Given the description of an element on the screen output the (x, y) to click on. 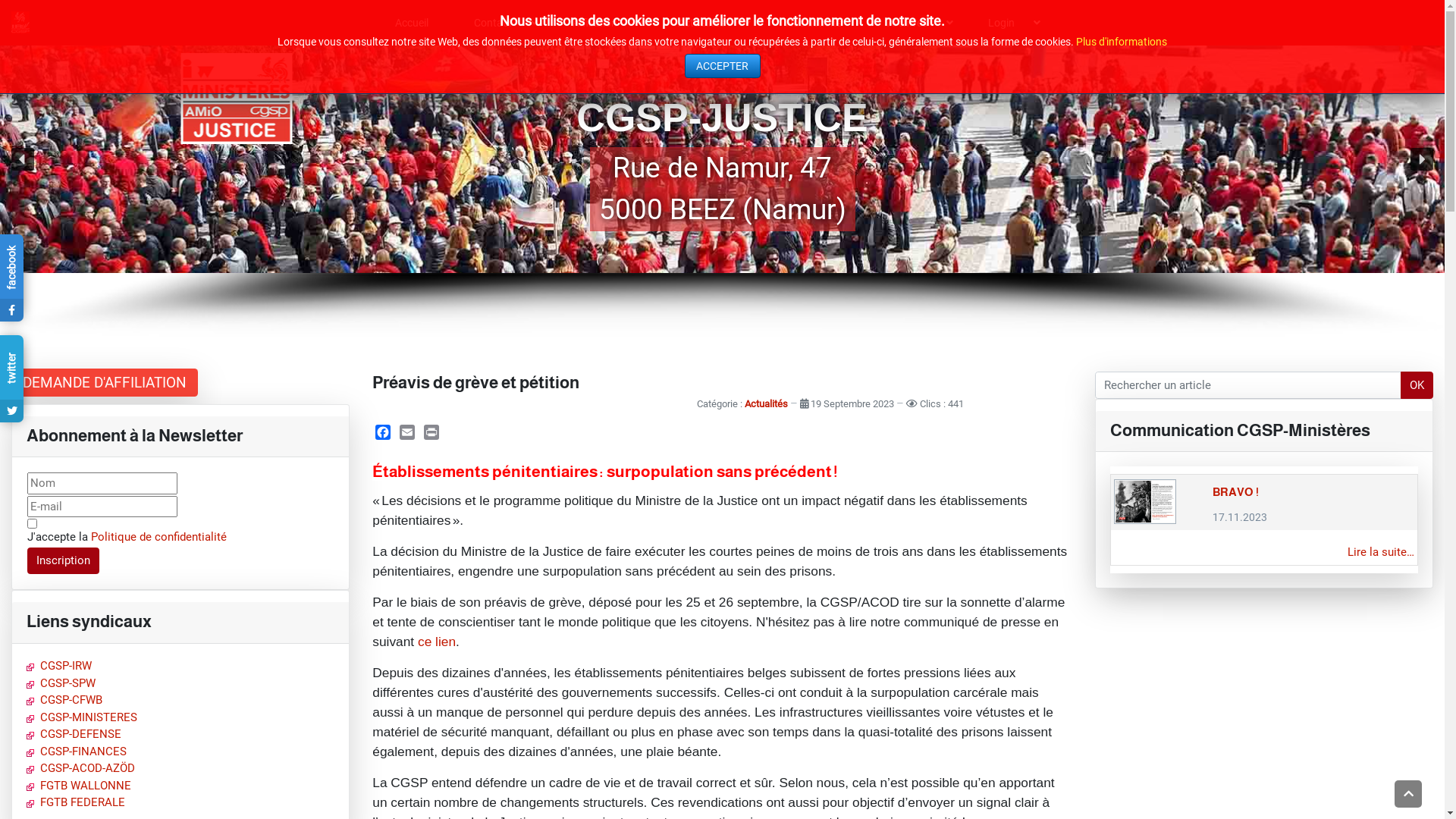
Contact Element type: text (500, 22)
Inscription Element type: text (63, 560)
Login Element type: text (1008, 22)
  CGSP-FINANCES Element type: text (76, 751)
Nos actions Element type: text (813, 22)
Email Element type: text (406, 431)
BRAVO ! Element type: text (1235, 492)
Plus d'informations Element type: text (1121, 41)
  CGSP-MINISTERES Element type: text (81, 717)
DEMANDE D'AFFILIATION Element type: text (104, 382)
  CGSP-SPW Element type: text (60, 683)
  CGSP-CFWB Element type: text (64, 699)
ce lien Element type: text (436, 641)
Affiliation Element type: text (602, 22)
  FGTB WALLONNE Element type: text (78, 785)
Print Element type: text (431, 431)
Termes et conditions Element type: hover (32, 523)
OK Element type: text (1416, 384)
Facebook Element type: text (382, 431)
Accueil Element type: text (411, 22)
  CGSP-DEFENSE Element type: text (73, 733)
Archives Element type: text (914, 22)
  CGSP-IRW Element type: text (58, 665)
  FGTB FEDERALE Element type: text (75, 802)
